Given the description of an element on the screen output the (x, y) to click on. 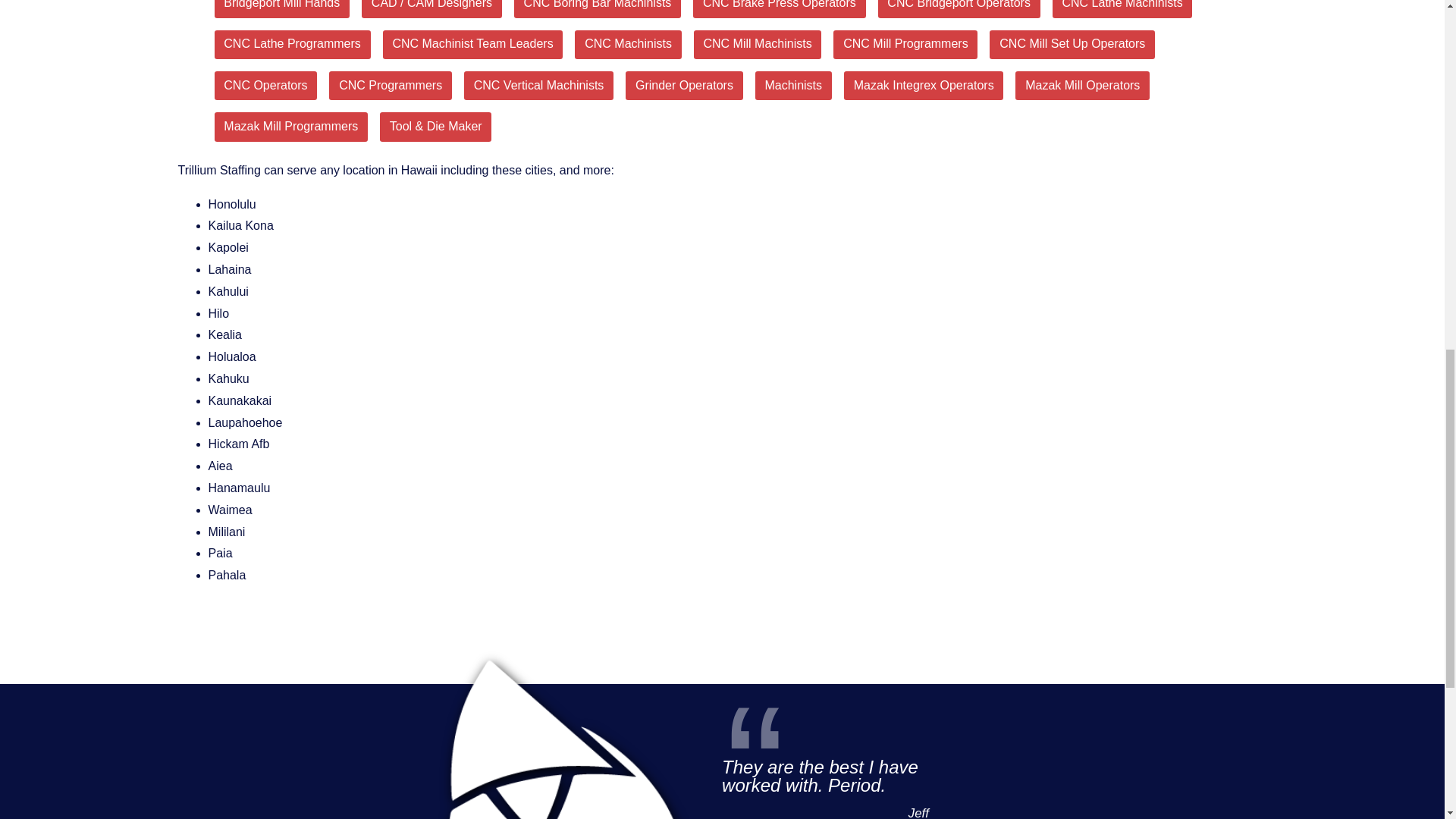
CNC Bridgeport Operators (959, 8)
Bridgeport Mill Hands (281, 8)
CNC Machinist Team Leaders (472, 44)
CNC Boring Bar Machinists (597, 8)
CNC Lathe Machinists (1122, 8)
CNC Mill Machinists (758, 44)
CNC Lathe Programmers (291, 44)
CNC Brake Press Operators (778, 8)
Logo (526, 735)
CNC Machinists (628, 44)
